Given the description of an element on the screen output the (x, y) to click on. 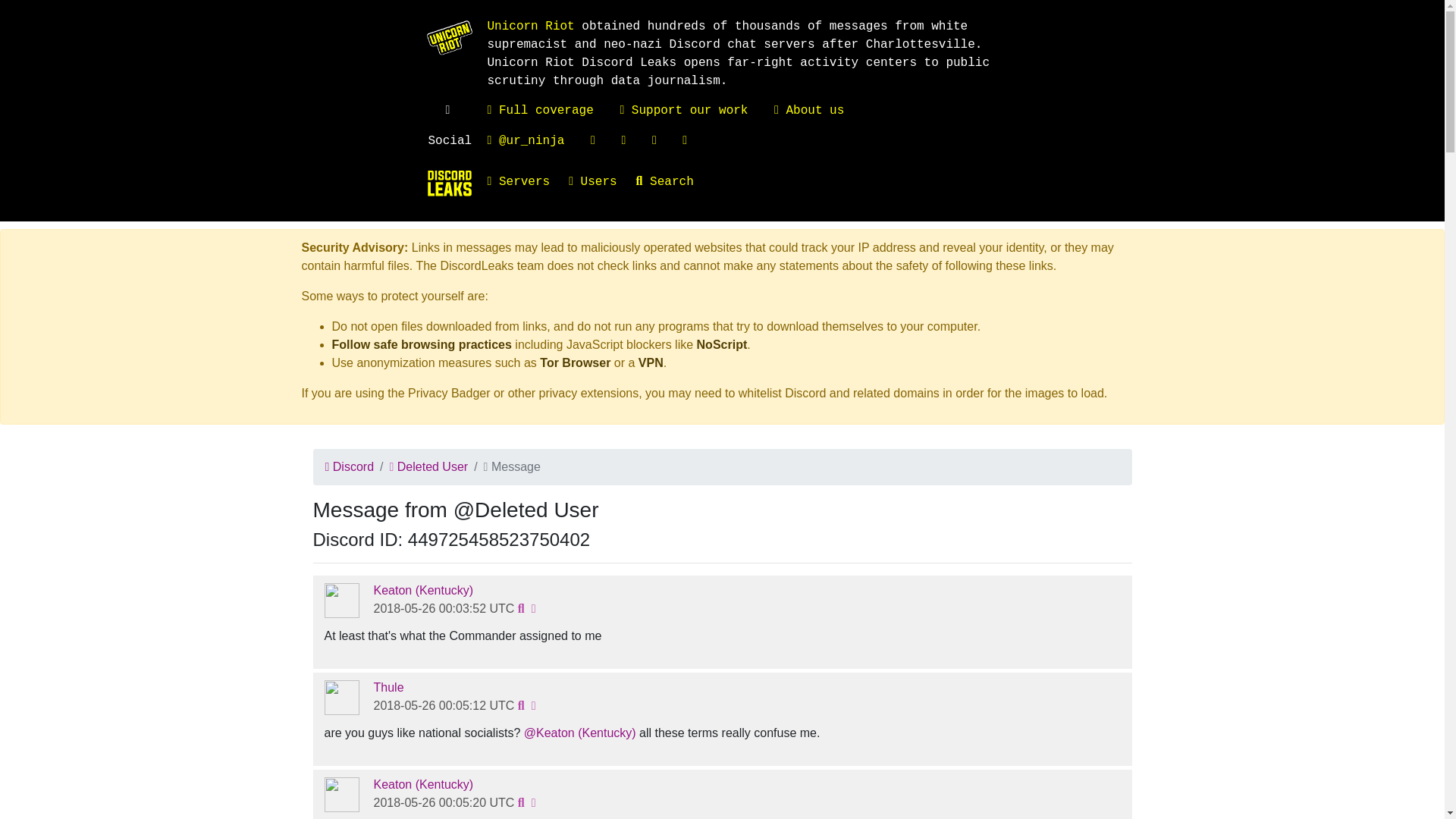
Discord ID: 425762161130995732 (341, 599)
Unicorn Riot (529, 26)
Home (448, 183)
Unicorn Riot on Vimeo (623, 141)
VPN (651, 362)
Unicorn Riot on Patreon (684, 141)
About Unicorn Riot (809, 110)
Support Unicorn Riot's work (684, 110)
NoScript (722, 344)
Tor Browser (575, 362)
Unicorn Riot on Facebook (593, 141)
Users (601, 181)
Support our work (684, 110)
Discord ID: 425762161130995732 (422, 590)
Full coverage (539, 110)
